Given the description of an element on the screen output the (x, y) to click on. 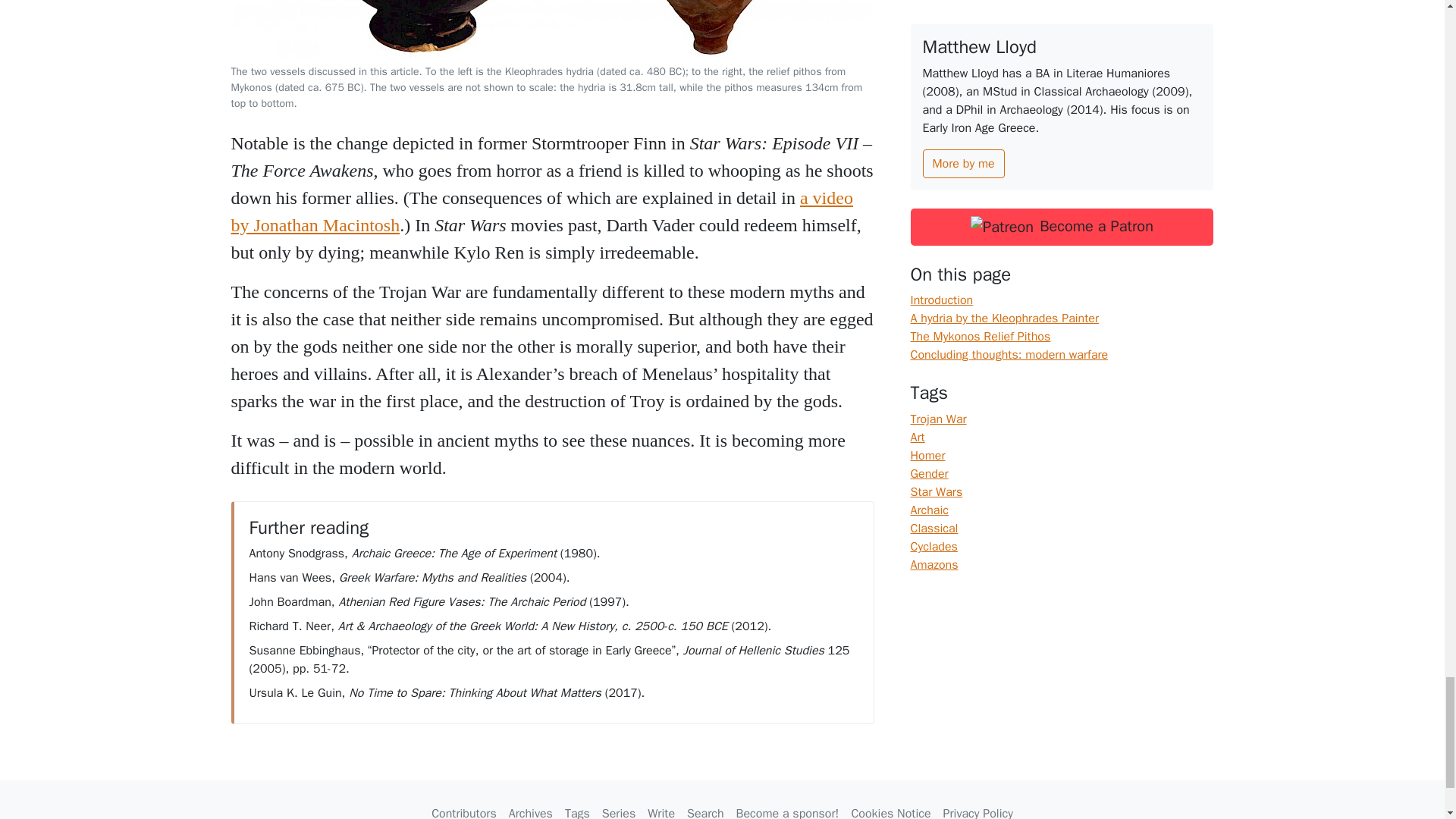
Archives (530, 808)
Series (618, 808)
Become a sponsor! (787, 808)
Tags (577, 808)
Write (661, 808)
a video by Jonathan Macintosh (540, 211)
Contributors (463, 808)
Search (705, 808)
